Given the description of an element on the screen output the (x, y) to click on. 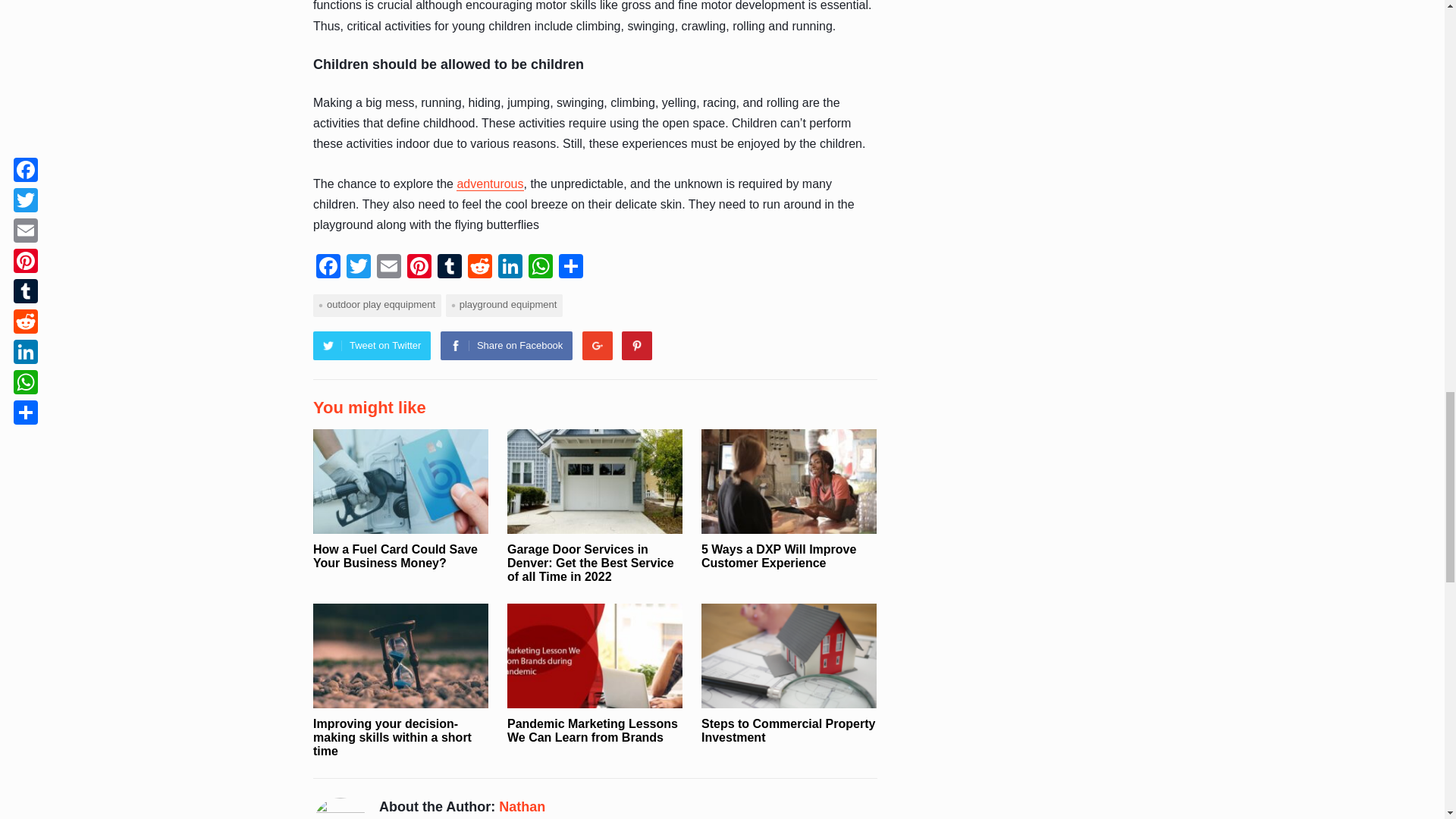
LinkedIn (510, 267)
Email (389, 267)
Reddit (479, 267)
WhatsApp (540, 267)
Facebook (328, 267)
Tumblr (448, 267)
Twitter (358, 267)
Pinterest (418, 267)
